Given the description of an element on the screen output the (x, y) to click on. 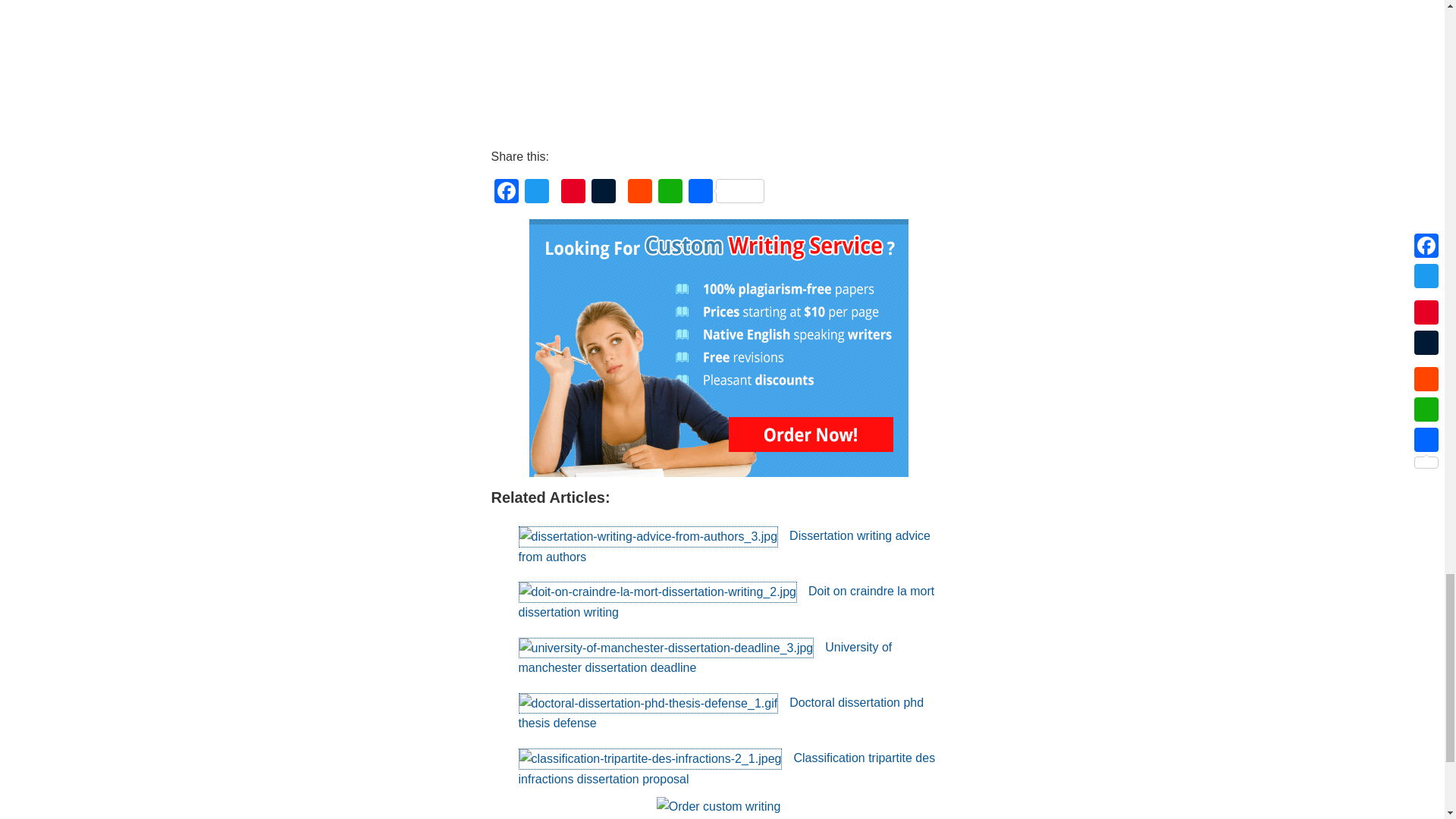
WhatsApp (670, 193)
Facebook (506, 193)
Pinterest (572, 193)
Facebook (506, 193)
Dissertation writing advice from authors (724, 546)
WhatsApp (670, 193)
Tumblr (603, 193)
Share (726, 193)
University of manchester dissertation deadline (705, 657)
Twitter (536, 193)
Reddit (639, 193)
Tumblr (603, 193)
Doit on craindre la mort dissertation writing (726, 601)
